Given the description of an element on the screen output the (x, y) to click on. 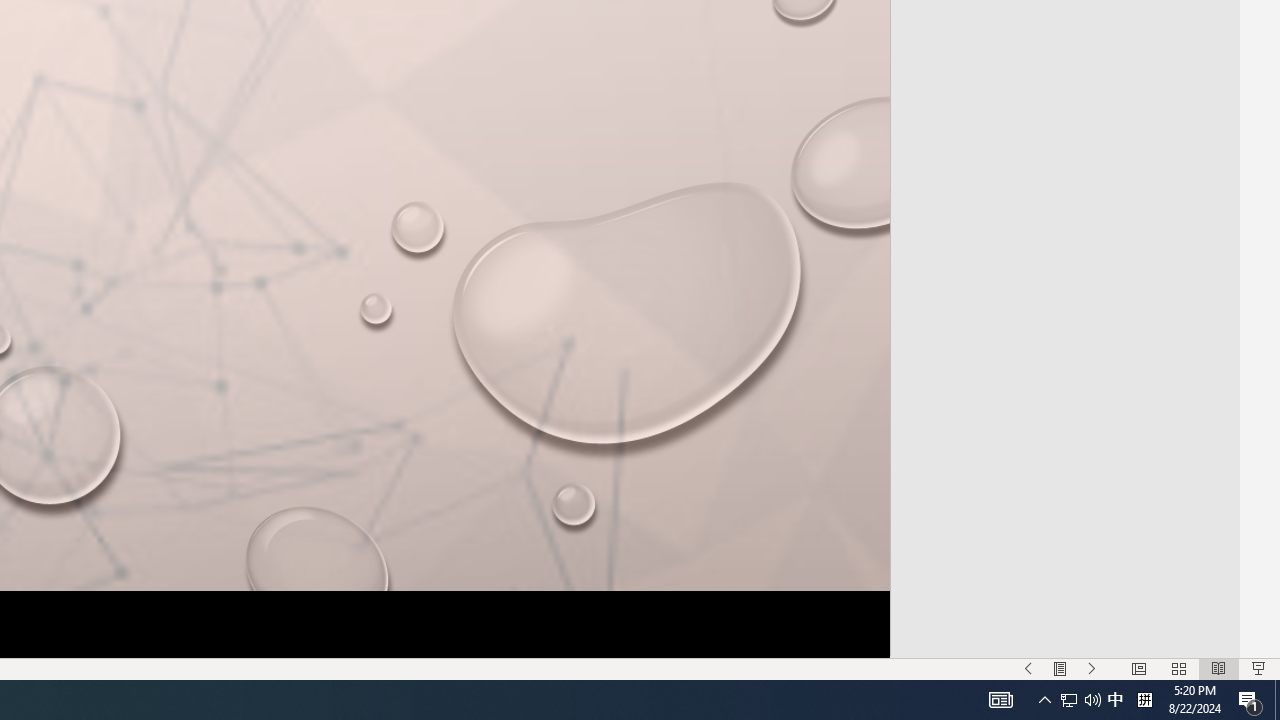
Dari (1063, 392)
Czech (1063, 310)
English (1063, 557)
Menu On (1060, 668)
Dogri (1063, 475)
Catalan (1063, 64)
Chinese Simplified (1063, 187)
Chinese Traditional (1063, 228)
Faroese (1063, 639)
Cantonese (Traditional) (1063, 24)
Slide Show Next On (1092, 668)
Dutch (1063, 516)
